Given the description of an element on the screen output the (x, y) to click on. 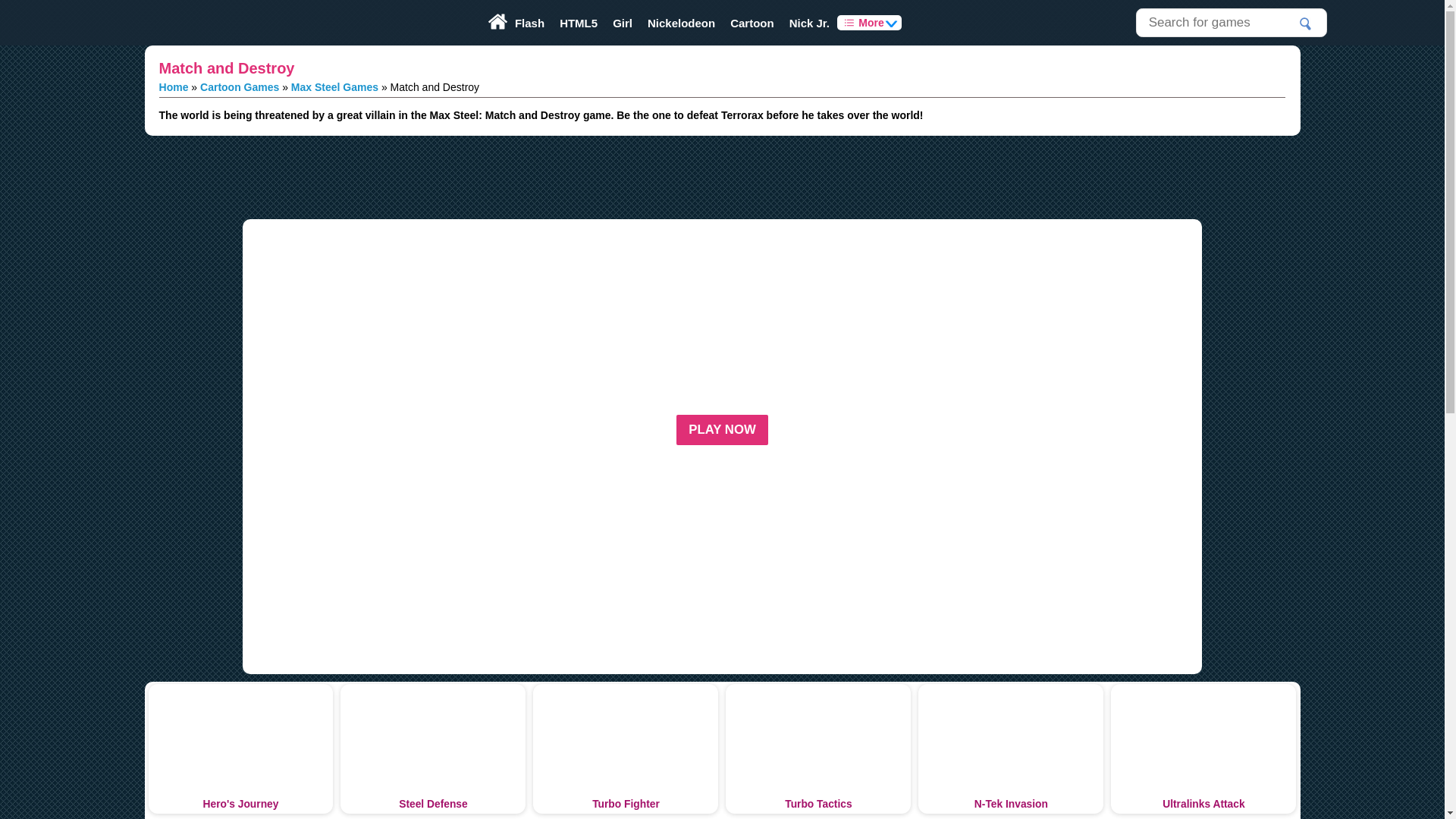
Girl Games (622, 22)
Cartoon (751, 22)
HTML5 Games (578, 22)
More (869, 22)
Nickelodeon (681, 22)
HTML5 (578, 22)
Nick Jr. (809, 22)
Play Fun Browser Games (185, 22)
Flash Games (528, 22)
